Given the description of an element on the screen output the (x, y) to click on. 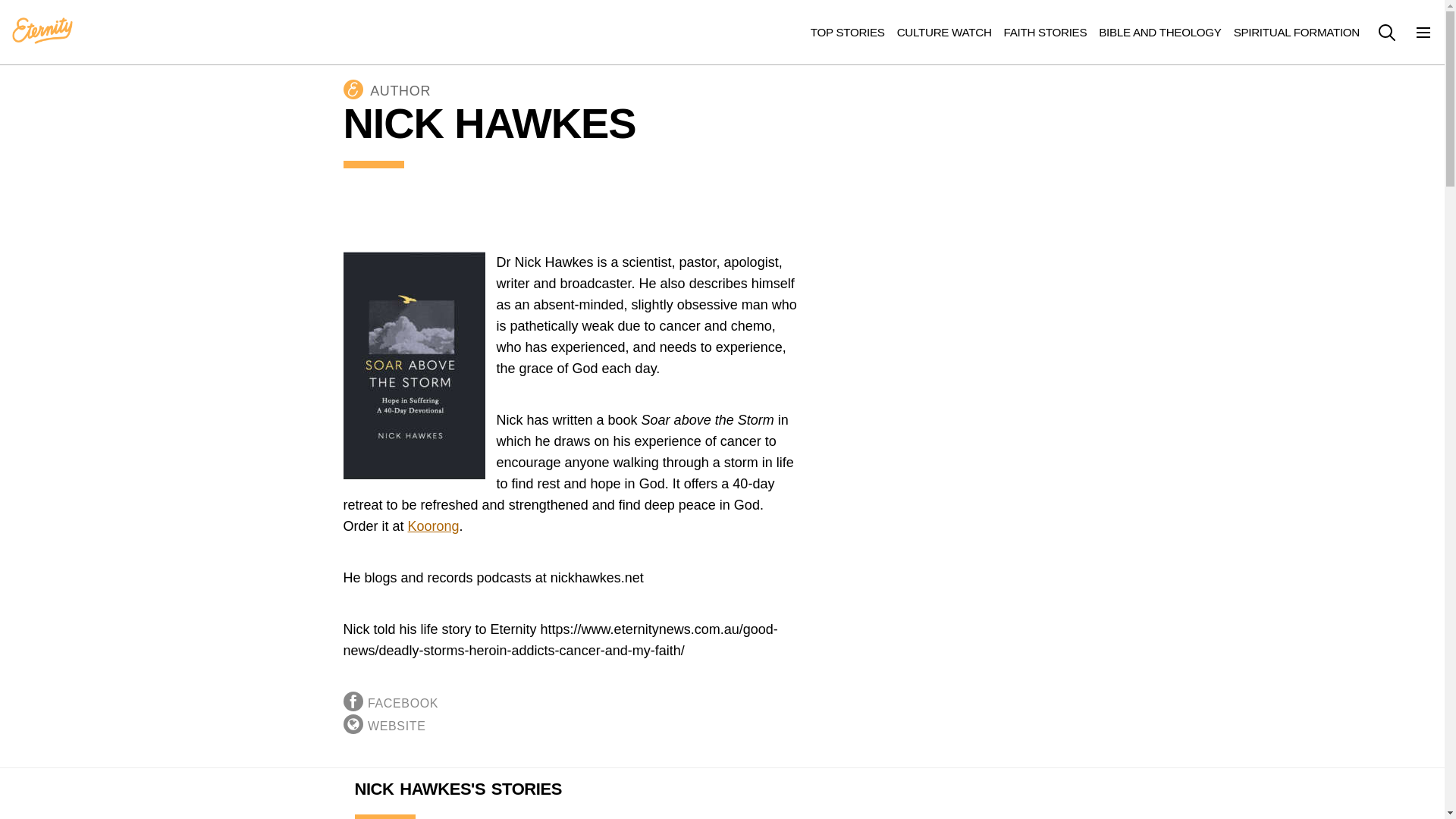
Koorong (433, 525)
BIBLE AND THEOLOGY (1160, 32)
SPIRITUAL FORMATION (1296, 32)
Return to the Eternity News Homepage (41, 31)
CULTURE WATCH (943, 32)
FAITH STORIES (1045, 32)
WEBSITE (397, 725)
TOP STORIES (847, 32)
FACEBOOK (403, 703)
